Given the description of an element on the screen output the (x, y) to click on. 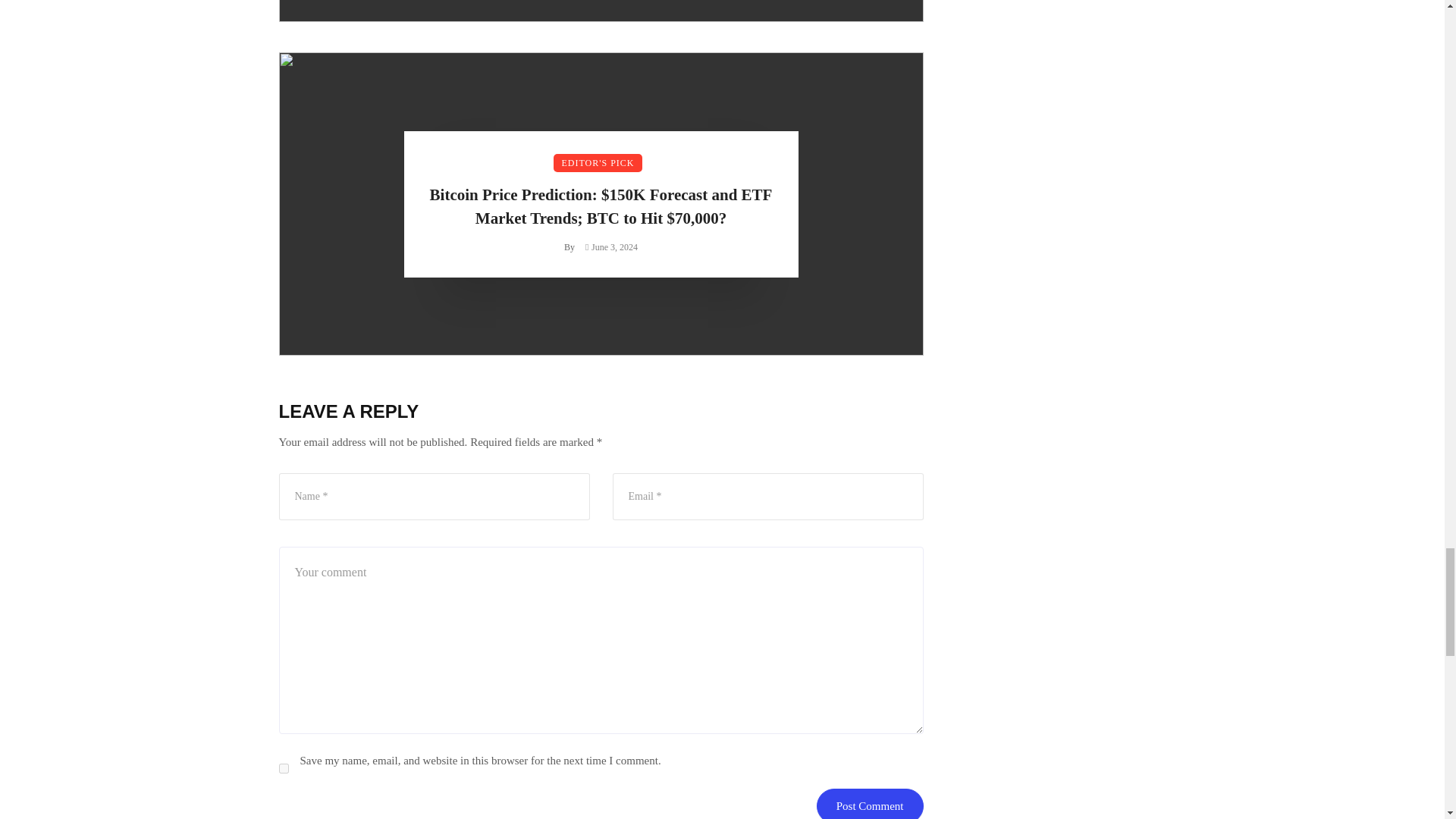
Post Comment (869, 803)
